Given the description of an element on the screen output the (x, y) to click on. 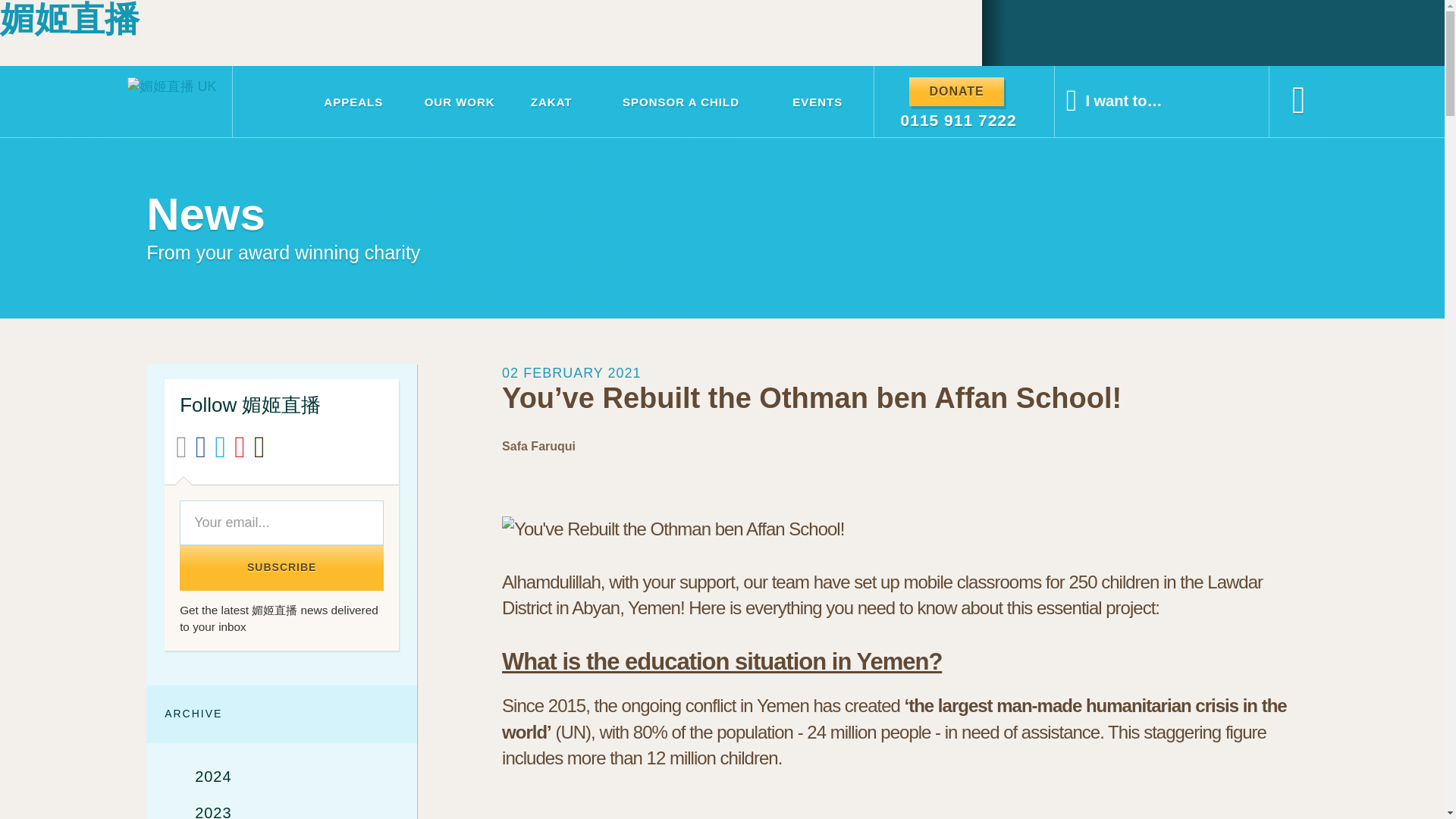
0115 911 7222 (958, 119)
Our Work (458, 101)
SPONSOR A CHILD (680, 101)
OUR WORK (458, 101)
Zakat (550, 101)
Events (817, 101)
Sponsor a Child (680, 101)
Appeals (352, 101)
EVENTS (817, 101)
APPEALS (352, 101)
DONATE (955, 91)
ZAKAT (550, 101)
